Given the description of an element on the screen output the (x, y) to click on. 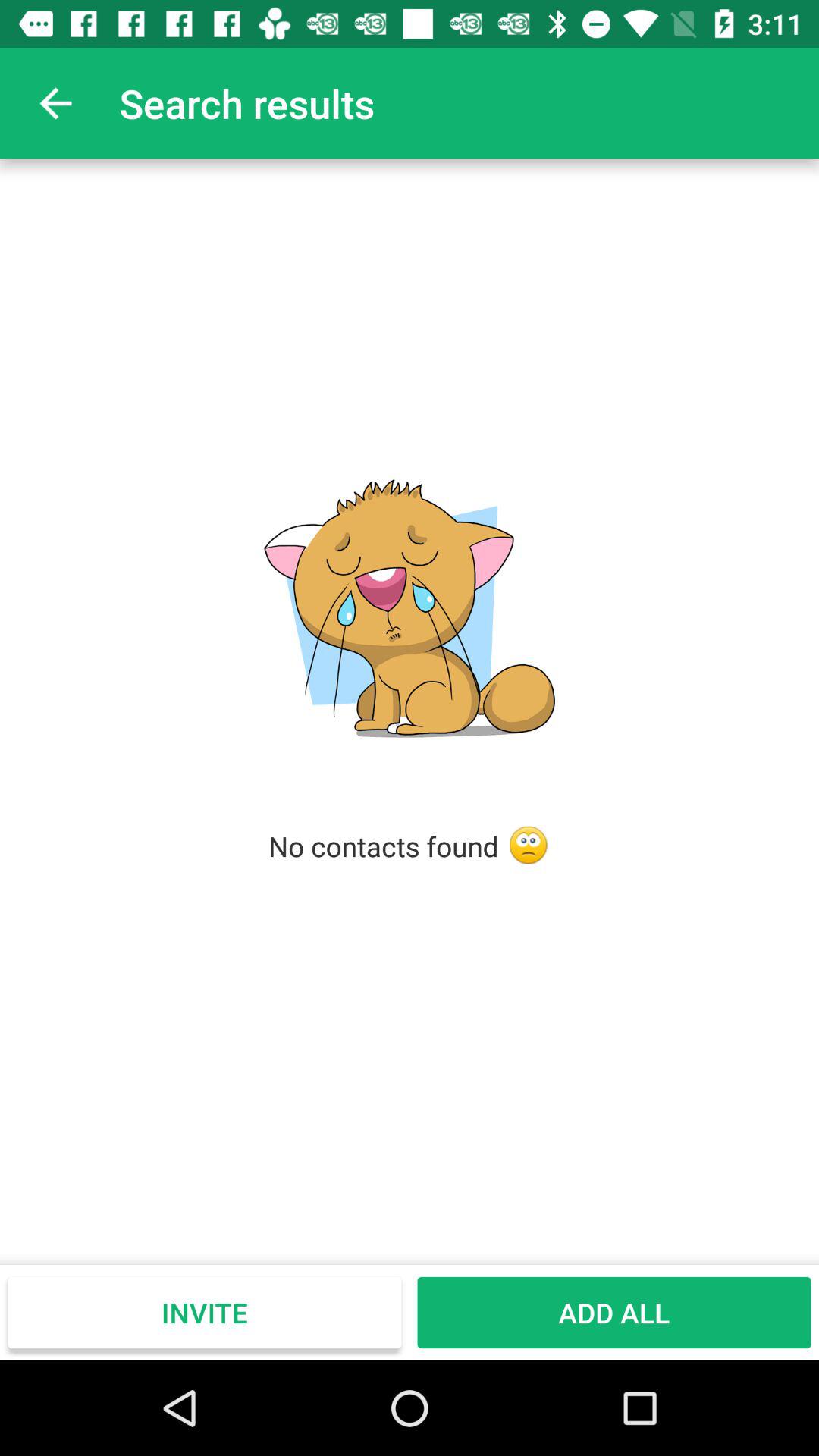
press invite icon (204, 1312)
